Given the description of an element on the screen output the (x, y) to click on. 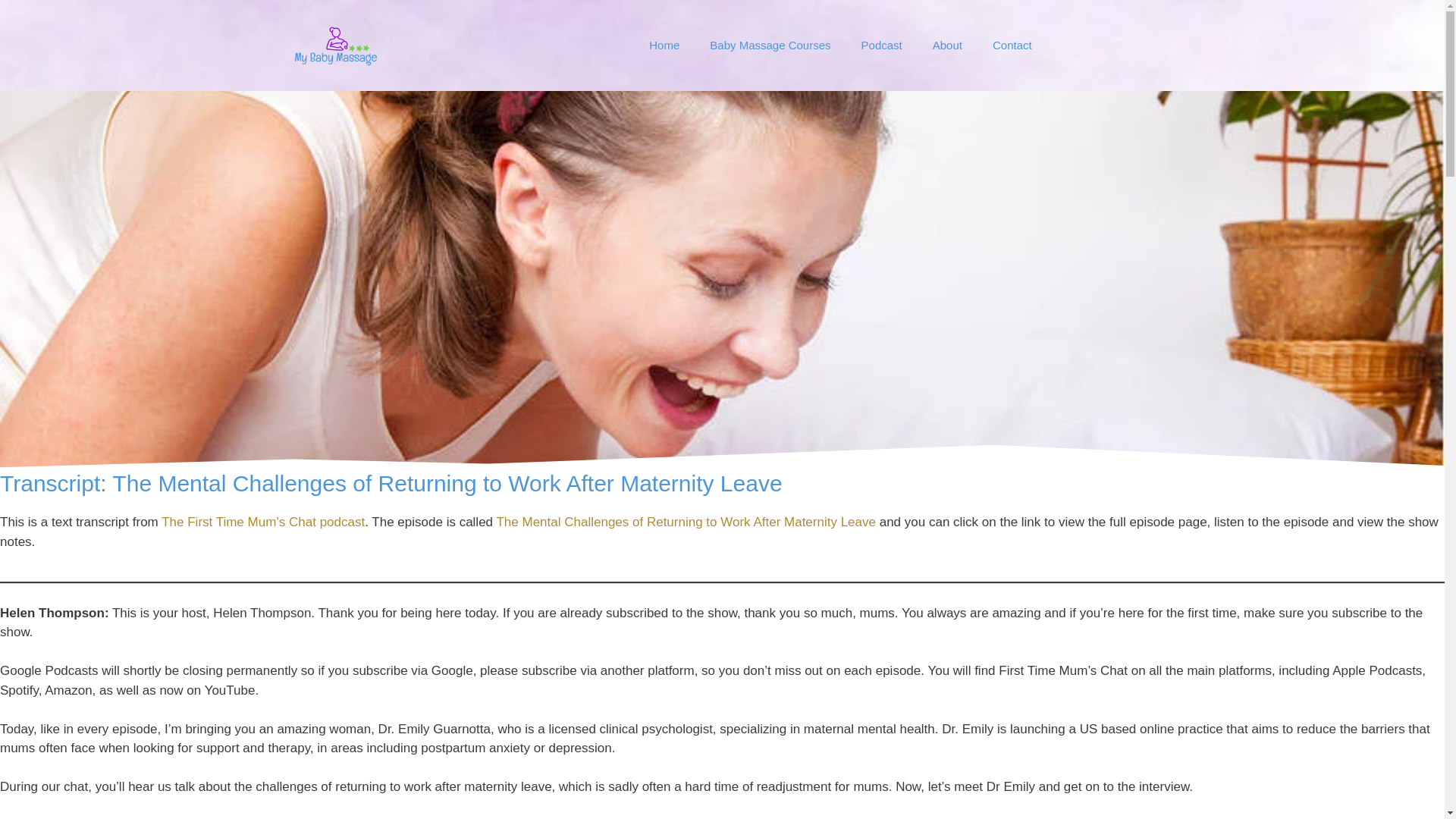
Contact (1011, 45)
About (946, 45)
Baby Massage Courses (769, 45)
Podcast (881, 45)
Home (663, 45)
